Given the description of an element on the screen output the (x, y) to click on. 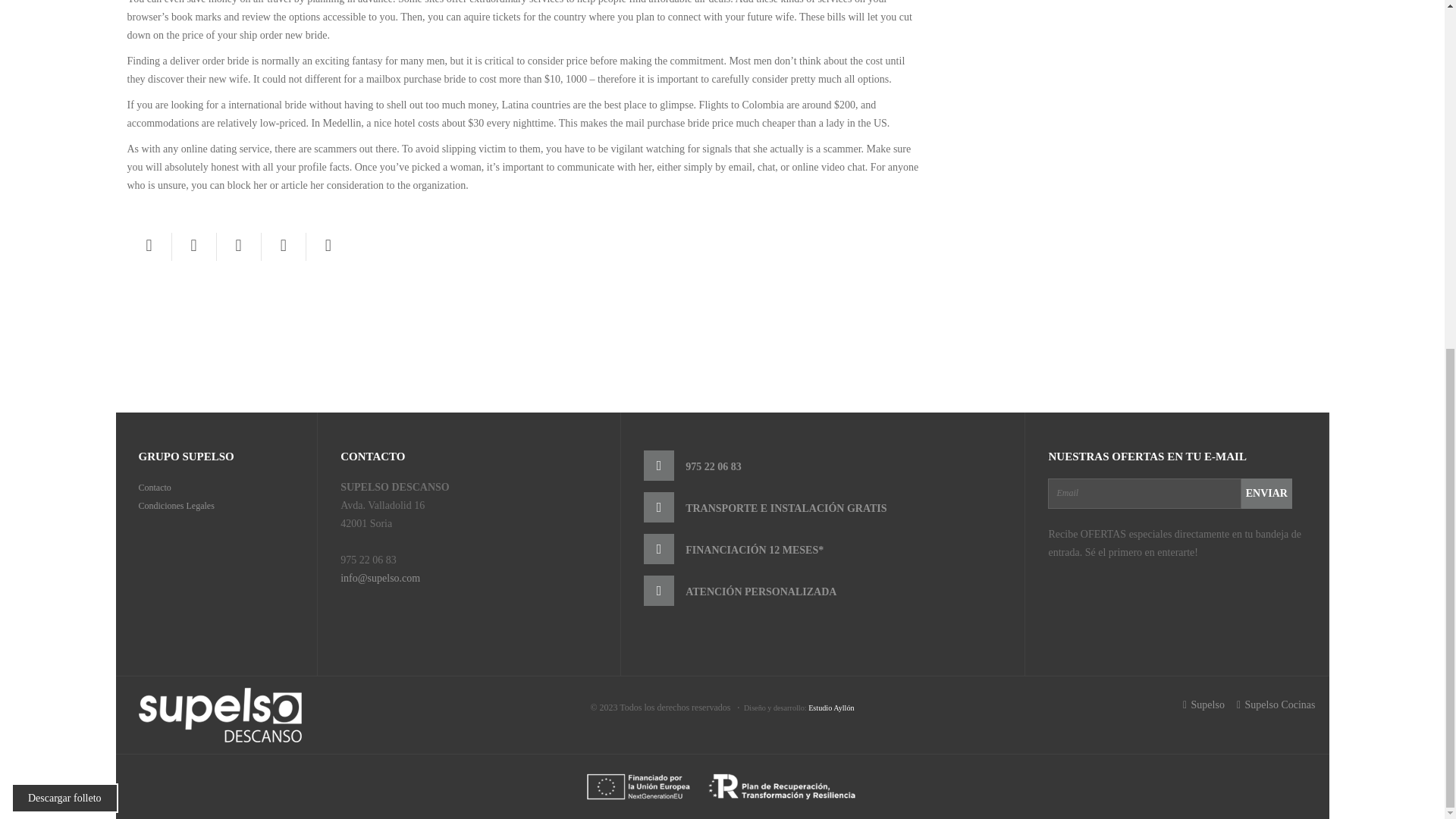
Descargar folleto (64, 195)
Supelso (1203, 704)
Enviar (1266, 492)
Supelso Cocinas (1275, 704)
Twitter (193, 245)
Facebook (149, 245)
Supelso Descanso (219, 713)
Supelso Cocinas (1275, 704)
Pinterest (238, 245)
Facebook Supelso (1203, 704)
Contacto (154, 487)
Condiciones Legales (176, 505)
LinkedIn (327, 245)
Enviar (1266, 492)
